Given the description of an element on the screen output the (x, y) to click on. 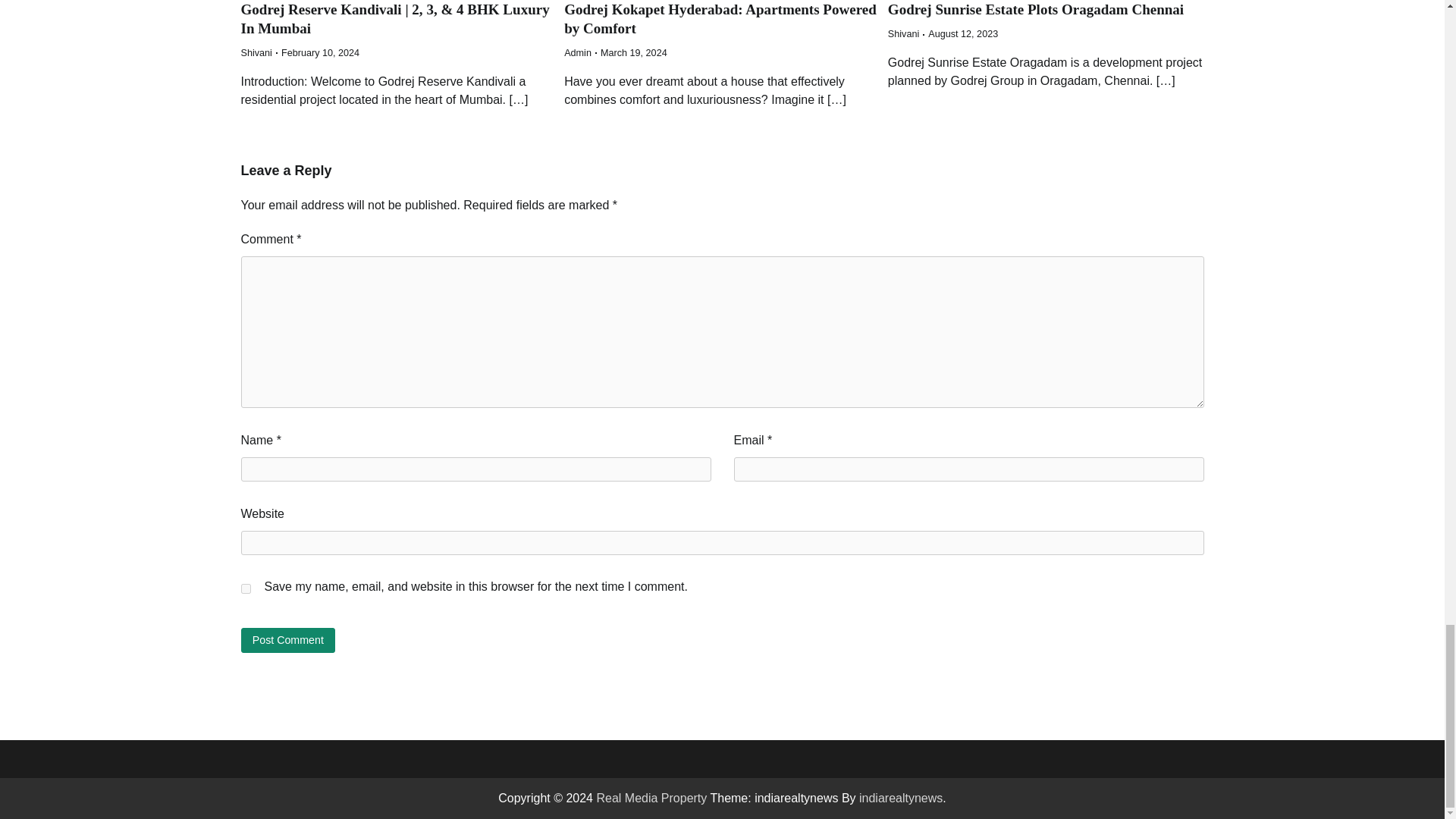
Godrej Kokapet Hyderabad: Apartments Powered by Comfort (720, 18)
Godrej Sunrise Estate Plots Oragadam Chennai (1035, 9)
Shivani (903, 33)
Admin (577, 52)
yes (245, 588)
Post Comment (288, 640)
Post Comment (288, 640)
indiarealtynews (900, 797)
Shivani (256, 52)
Real Media Property (650, 797)
